Given the description of an element on the screen output the (x, y) to click on. 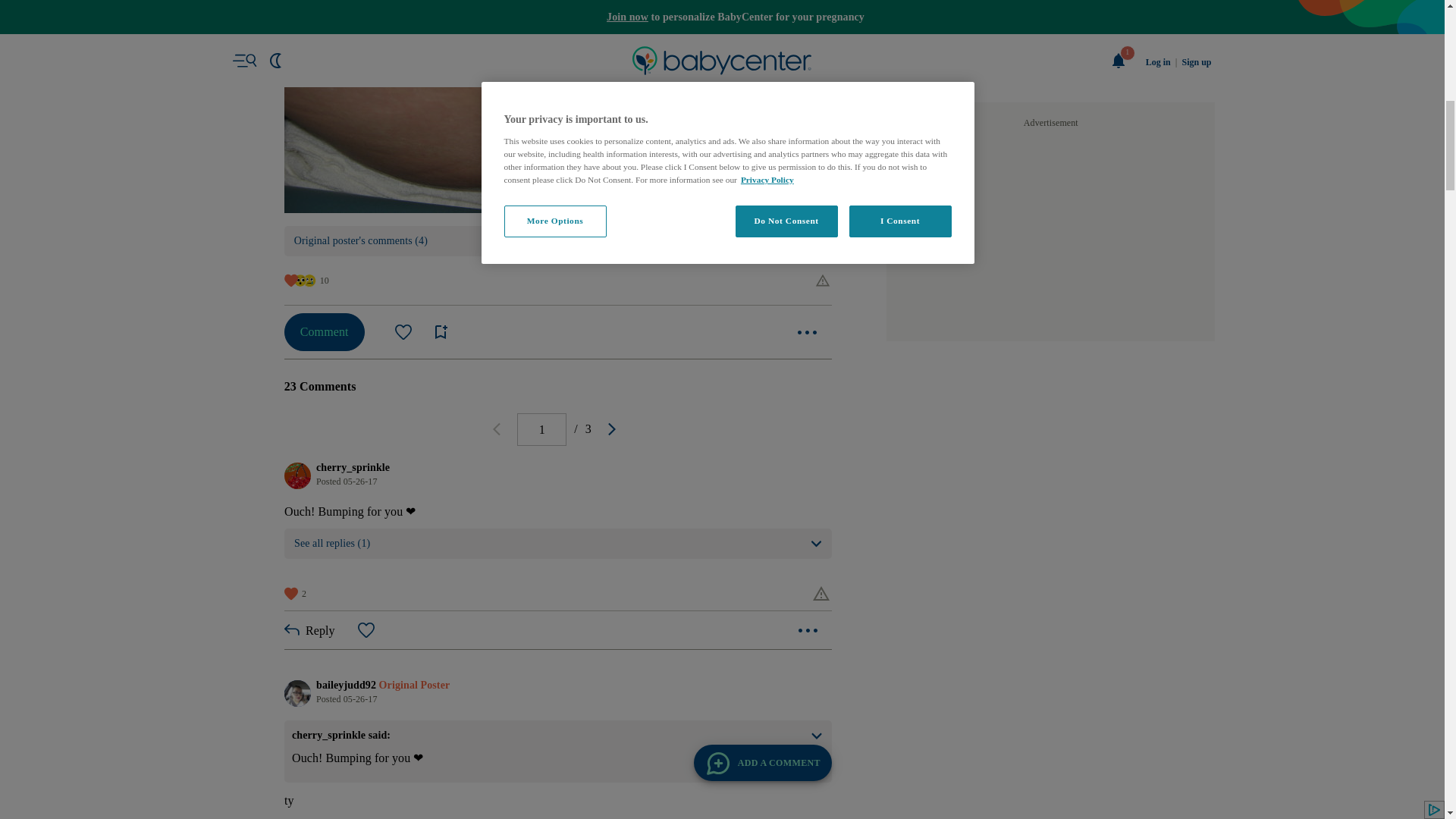
Go to page number (541, 428)
1 (541, 428)
